Given the description of an element on the screen output the (x, y) to click on. 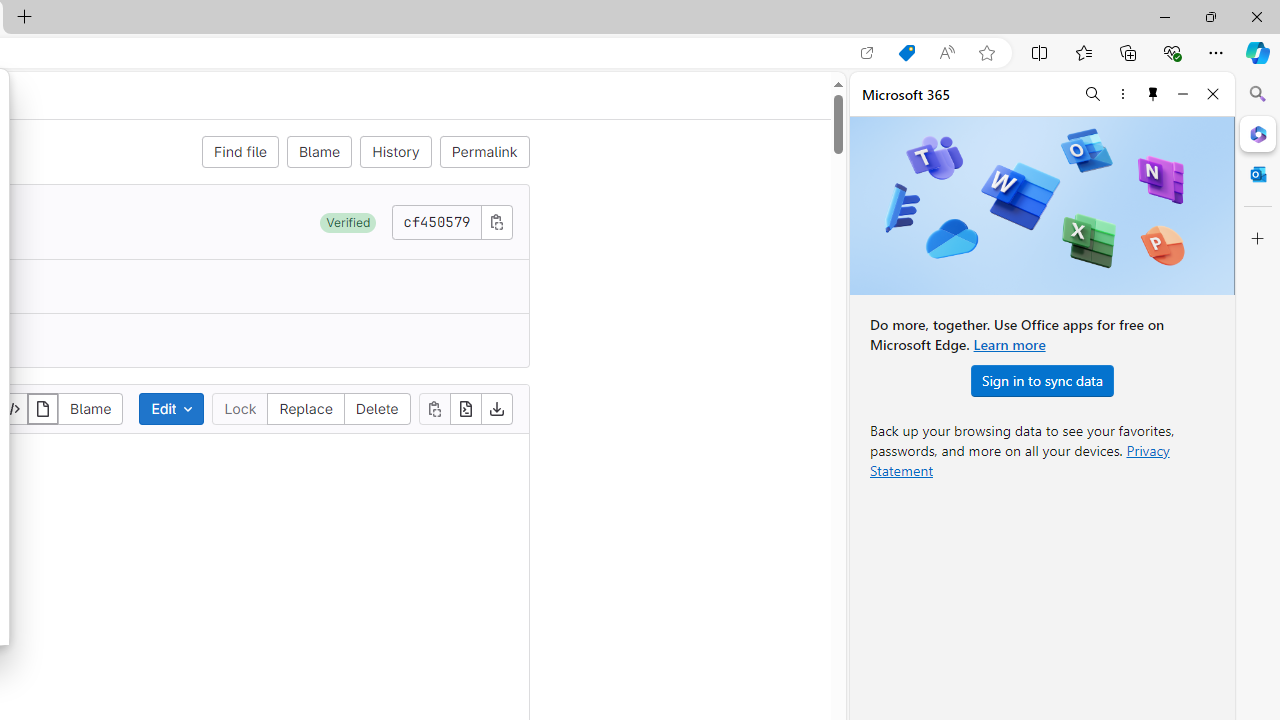
Lock (240, 408)
Blame (319, 151)
Copy file contents (434, 408)
Delete (376, 408)
